Given the description of an element on the screen output the (x, y) to click on. 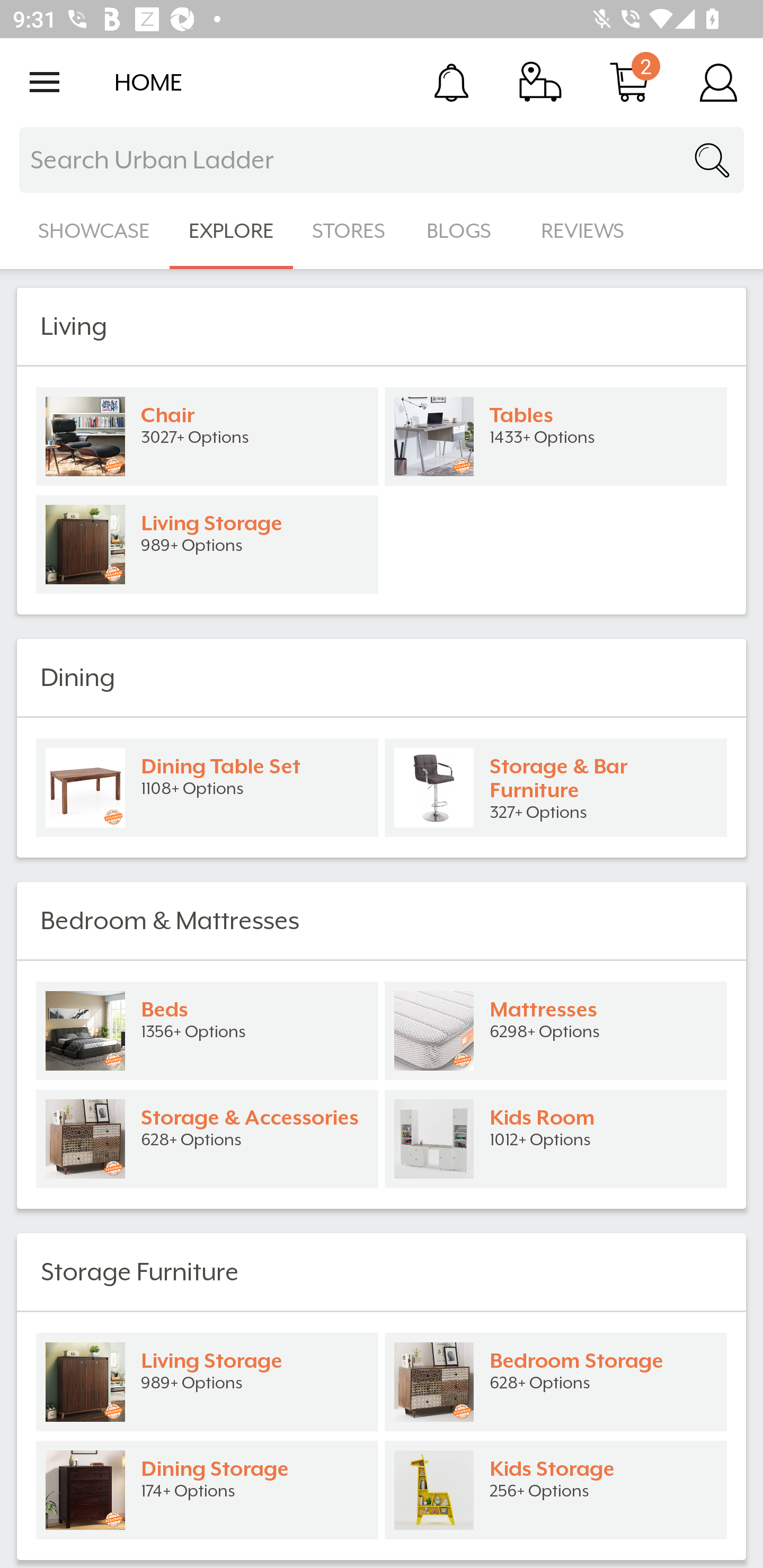
Open navigation drawer (44, 82)
Notification (450, 81)
Track Order (540, 81)
Cart (629, 81)
Account Details (718, 81)
Search Urban Ladder  (381, 159)
SHOWCASE (94, 230)
EXPLORE (230, 230)
STORES (349, 230)
BLOGS (464, 230)
REVIEWS (582, 230)
Chair 3027+ Options (206, 436)
Tables 1433+ Options (555, 436)
Living Storage 989+ Options (206, 544)
Dining Table Set 1108+ Options (206, 787)
Storage & Bar Furniture 327+ Options (555, 787)
Beds 1356+ Options (206, 1030)
Mattresses 6298+ Options (555, 1030)
Storage & Accessories 628+ Options (206, 1139)
Kids Room 1012+ Options (555, 1139)
Living Storage 989+ Options (206, 1382)
Bedroom Storage 628+ Options (555, 1382)
Dining Storage 174+ Options (206, 1490)
Kids Storage 256+ Options (555, 1490)
